Given the description of an element on the screen output the (x, y) to click on. 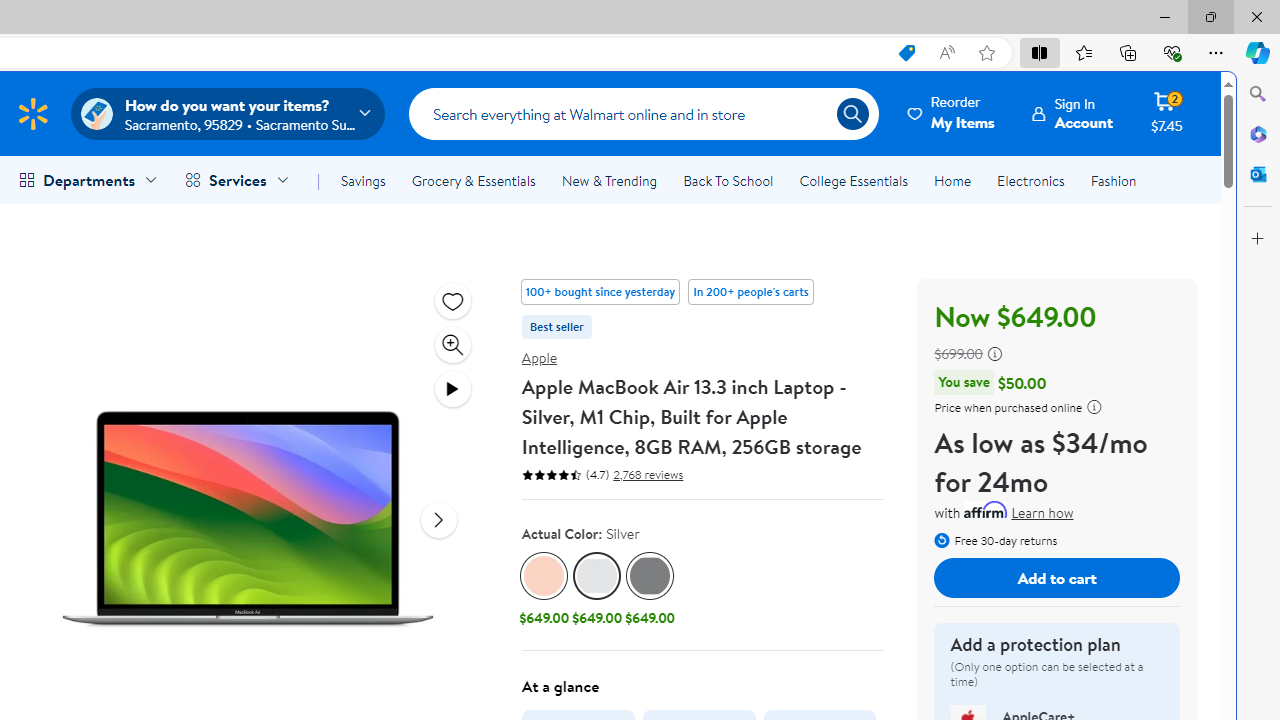
Zoom image modal (452, 344)
legal information (1094, 406)
View video (452, 388)
Silver (597, 575)
Fashion (1113, 180)
College Essentials (852, 180)
Back To School (728, 180)
learn more about strikethrough prices (994, 353)
Grocery & Essentials (473, 180)
